Given the description of an element on the screen output the (x, y) to click on. 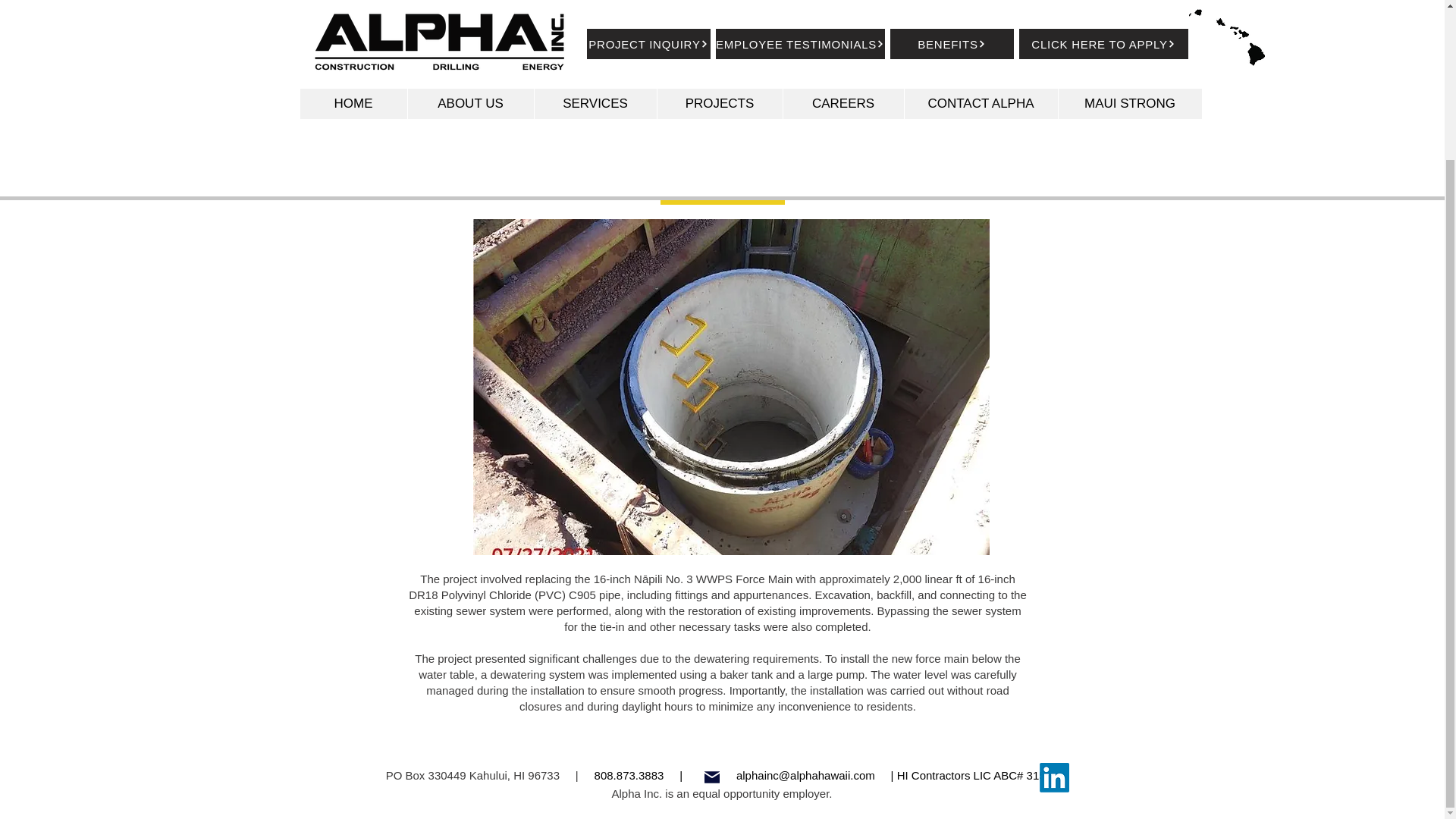
BACK TO PROJECTS (721, 189)
